Given the description of an element on the screen output the (x, y) to click on. 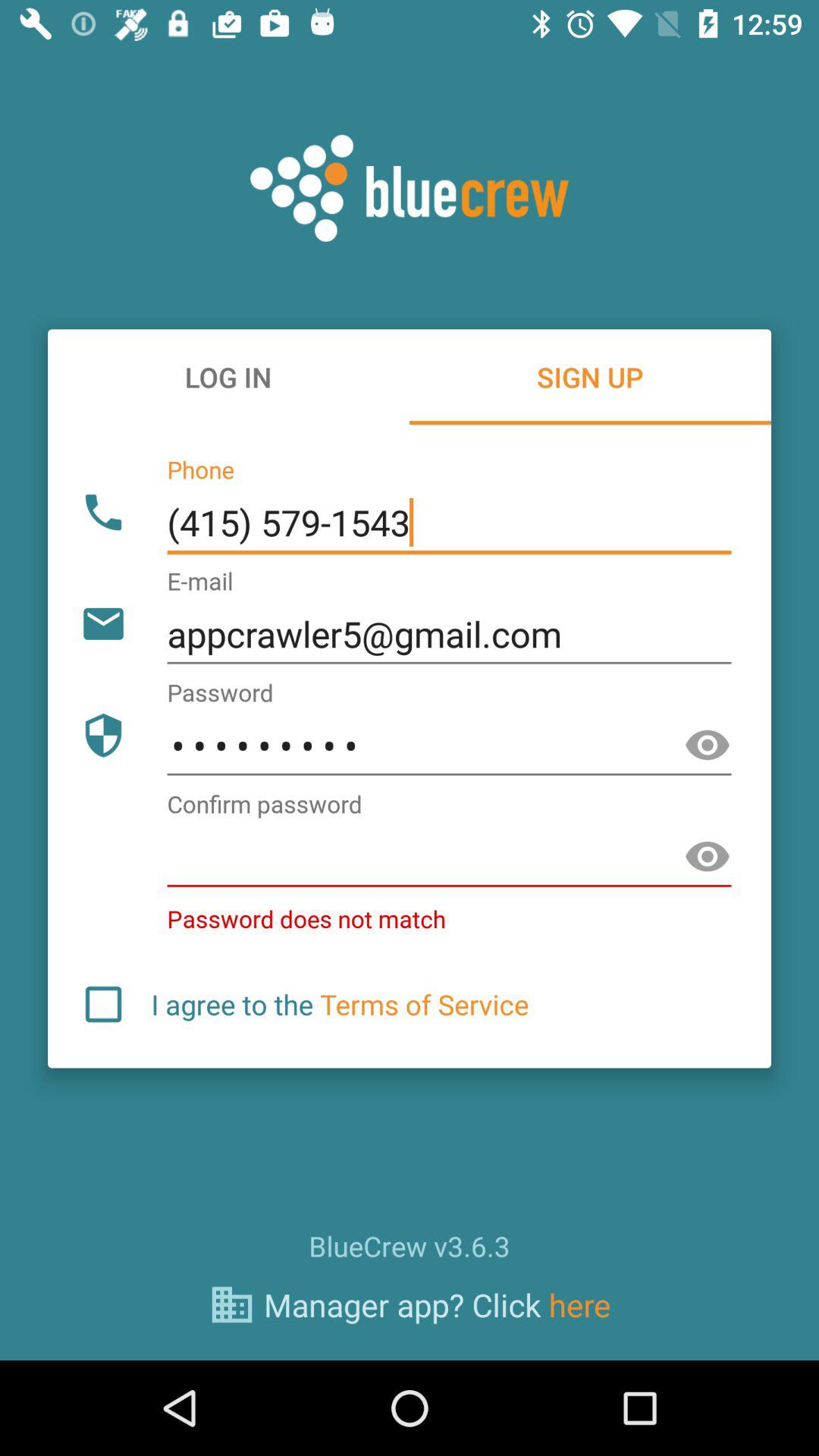
words of the password (707, 745)
